Given the description of an element on the screen output the (x, y) to click on. 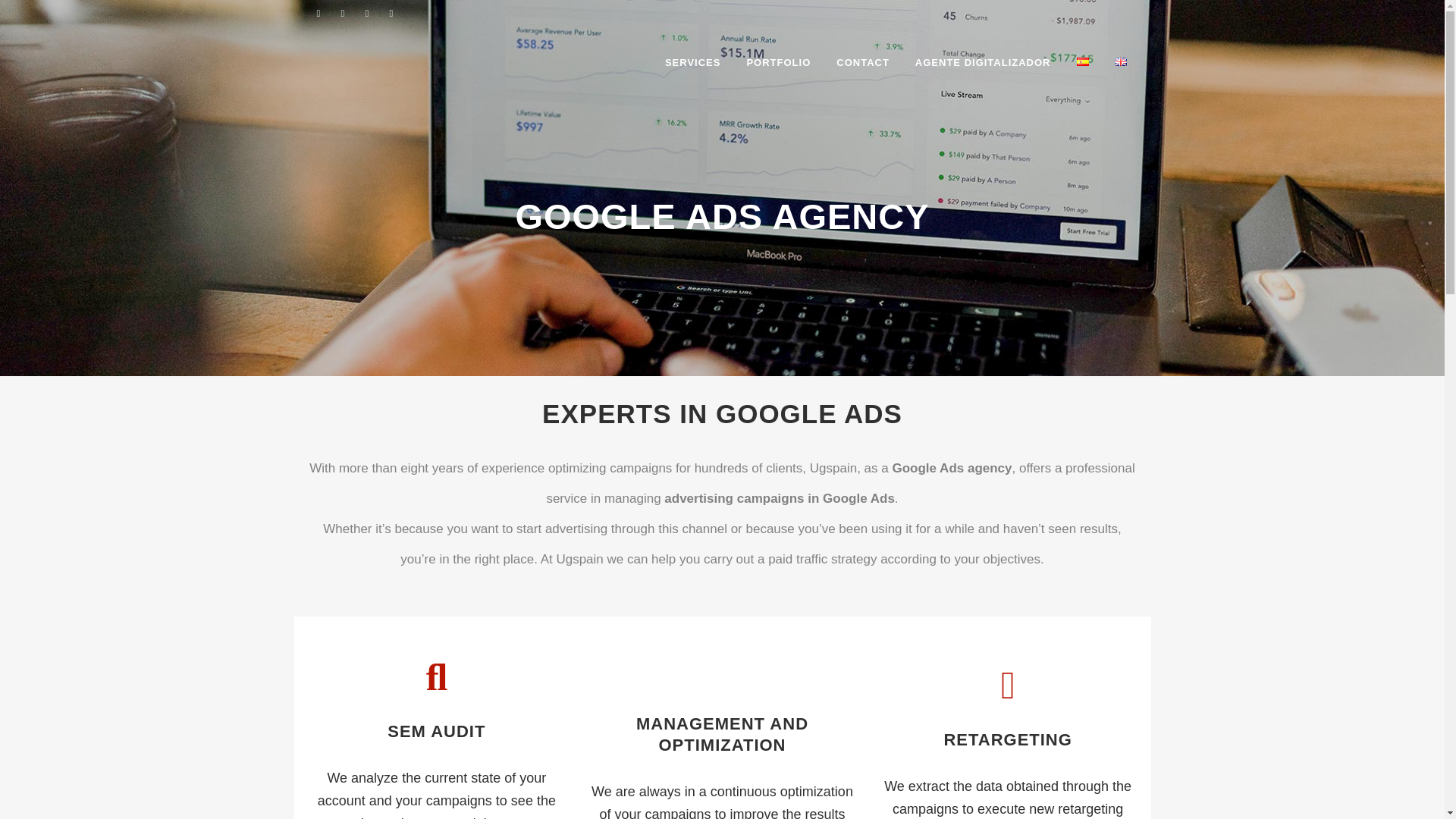
AGENTE DIGITALIZADOR (983, 62)
PORTFOLIO (778, 62)
SERVICES (692, 62)
CONTACT (863, 62)
